Given the description of an element on the screen output the (x, y) to click on. 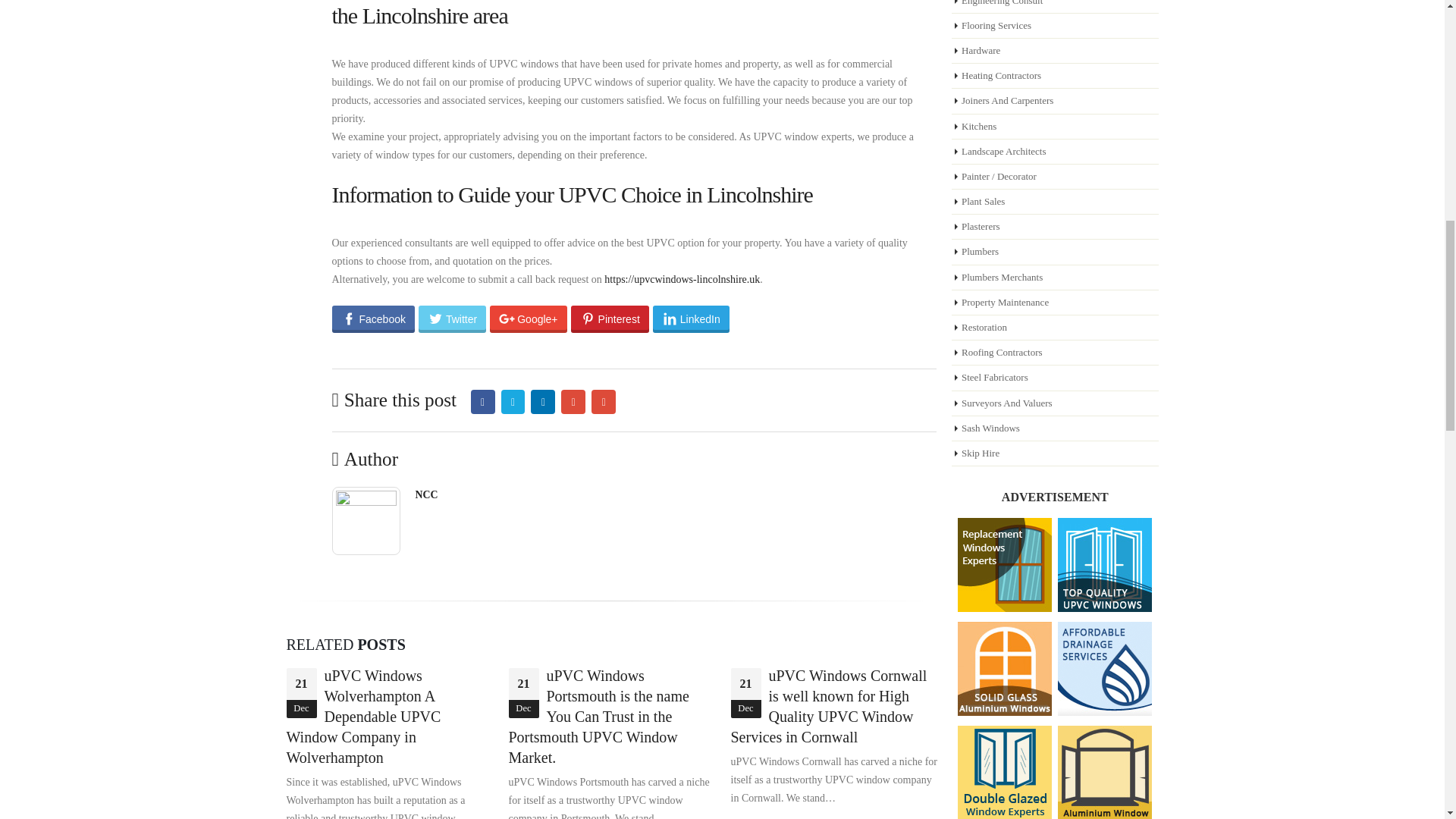
Posts by NCC (426, 494)
